Given the description of an element on the screen output the (x, y) to click on. 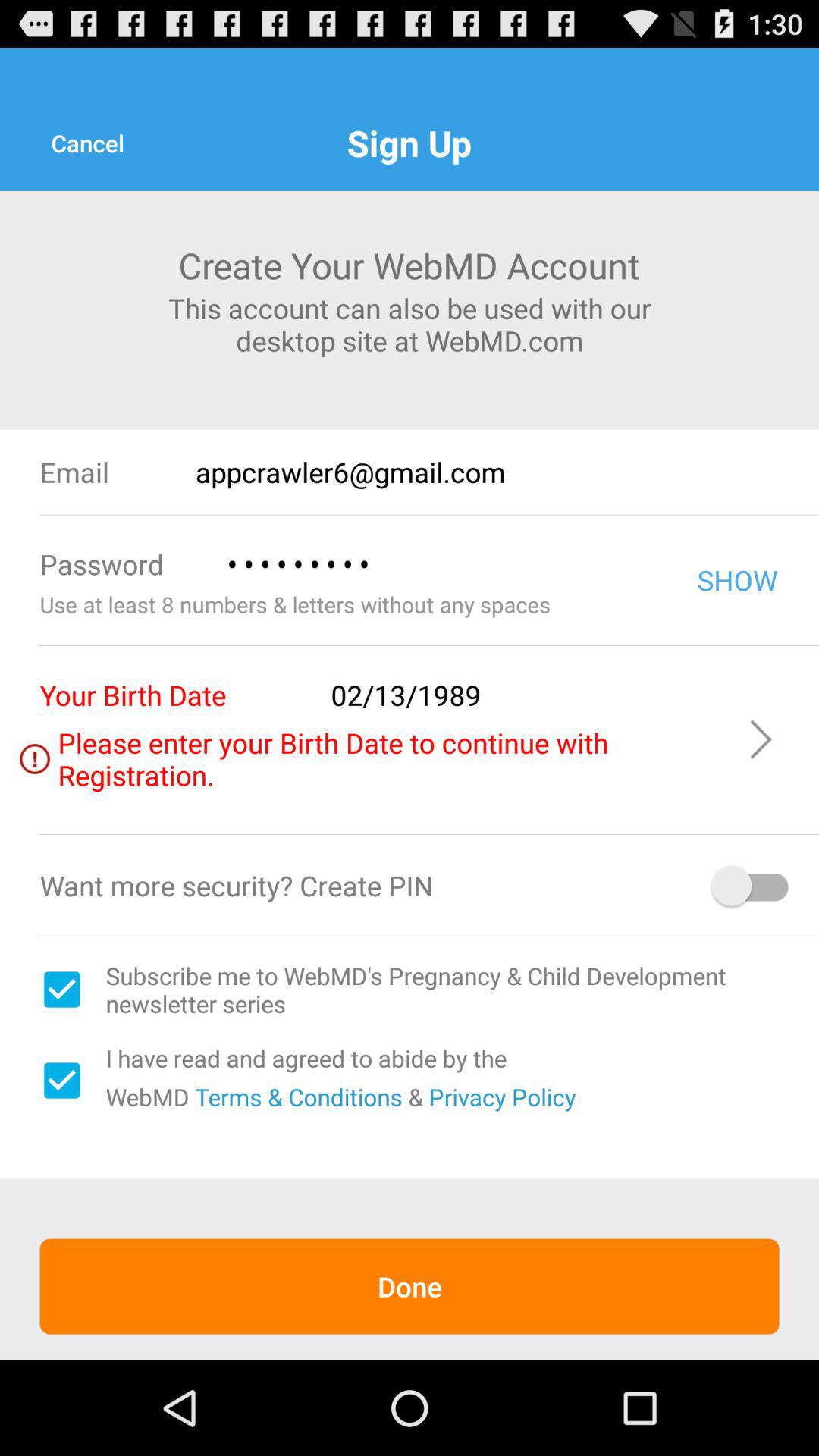
switch autoplay option (751, 885)
